Given the description of an element on the screen output the (x, y) to click on. 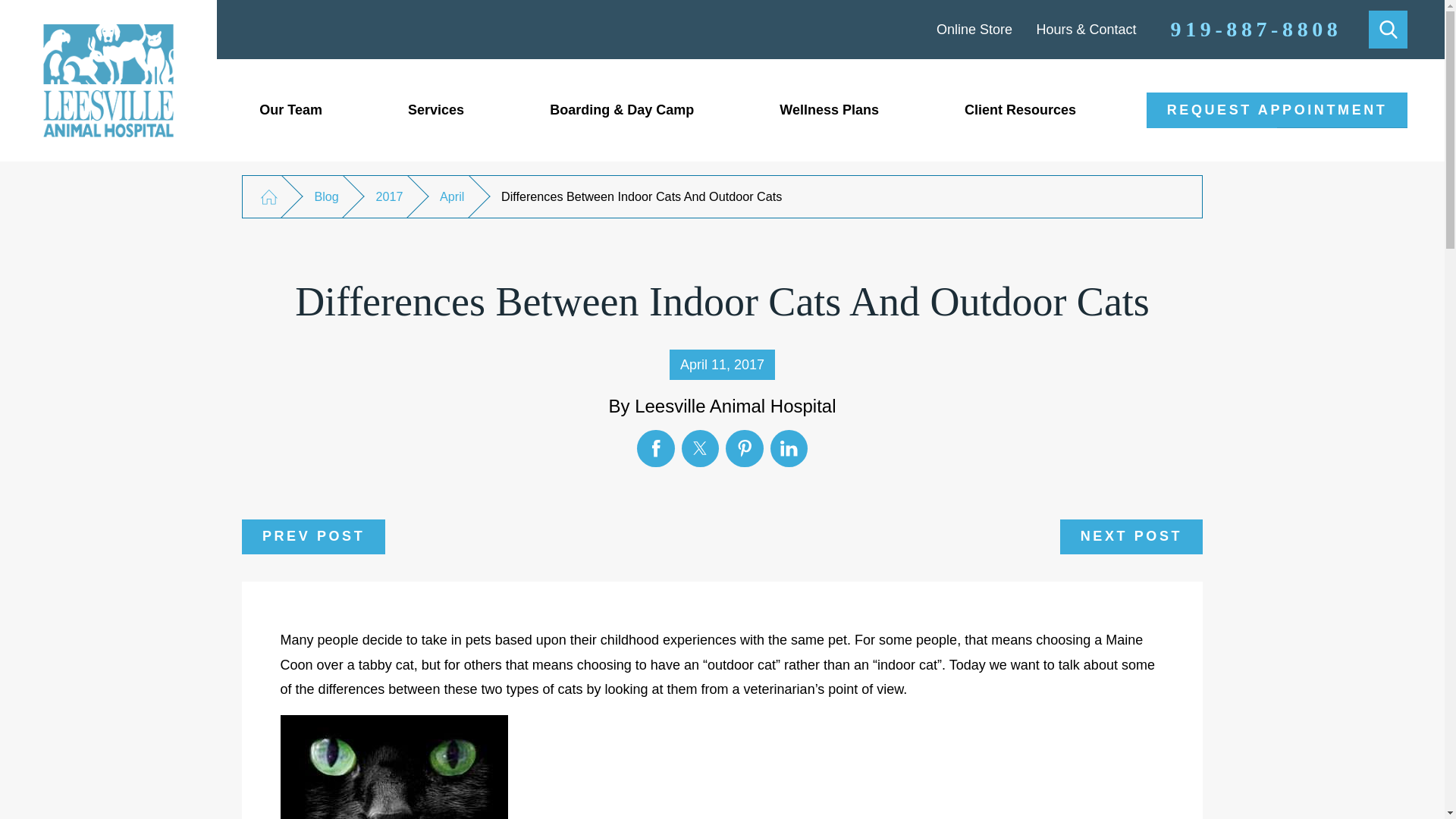
Online Store (973, 29)
Client Resources (1020, 109)
Go Home (269, 196)
REQUEST APPOINTMENT (1277, 109)
Search Our Site (1387, 29)
Search Icon (1387, 29)
Services (435, 109)
Leesville Animal Hospital (108, 80)
Our Team (290, 109)
919-887-8808 (1256, 29)
Wellness Plans (828, 109)
